Given the description of an element on the screen output the (x, y) to click on. 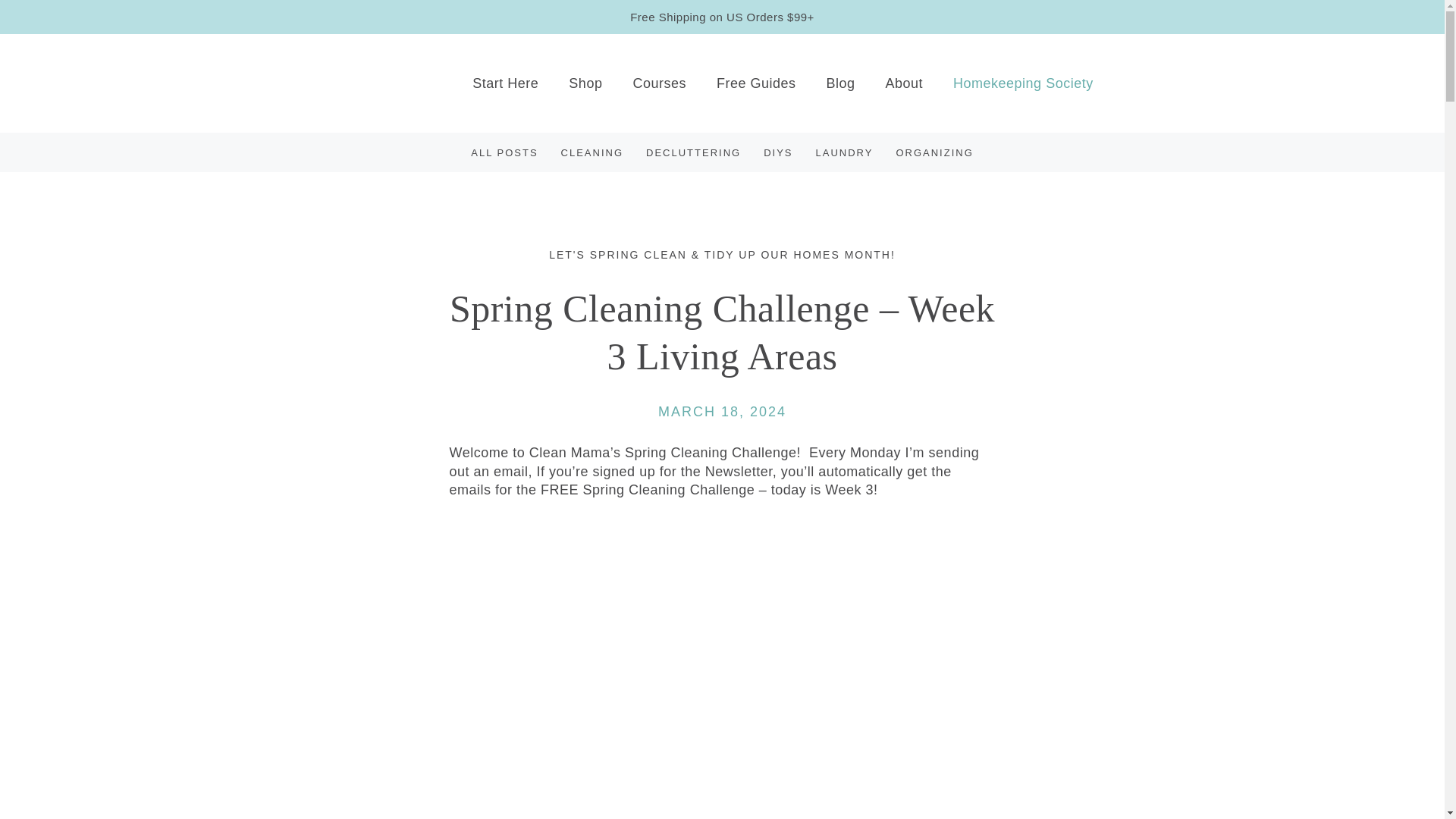
Start Here (505, 82)
Courses (659, 82)
Homekeeping Society (1023, 89)
Free Guides (755, 82)
